Given the description of an element on the screen output the (x, y) to click on. 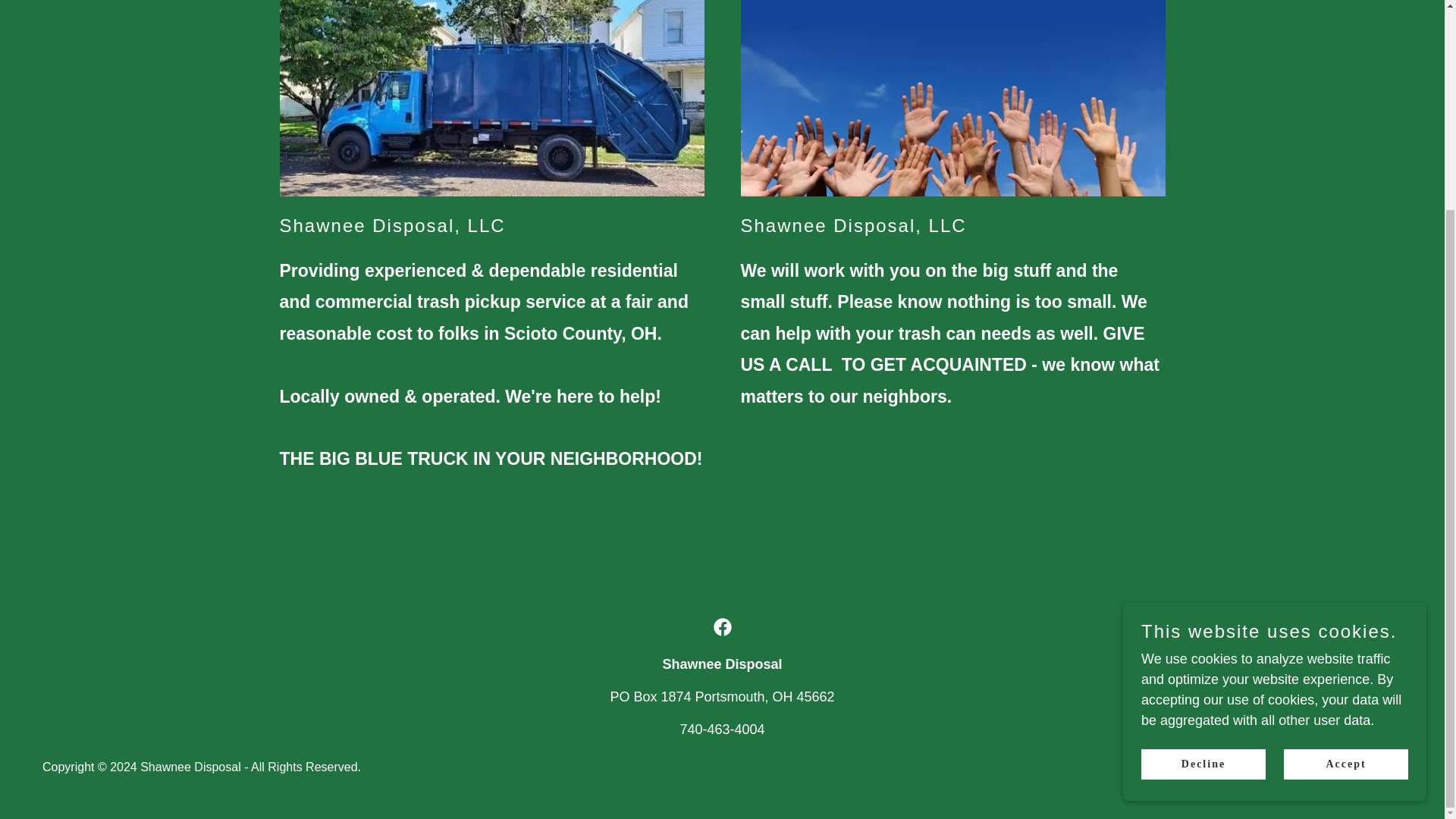
GoDaddy (1376, 766)
Accept (1345, 490)
740-463-4004 (721, 729)
Decline (1203, 490)
